Given the description of an element on the screen output the (x, y) to click on. 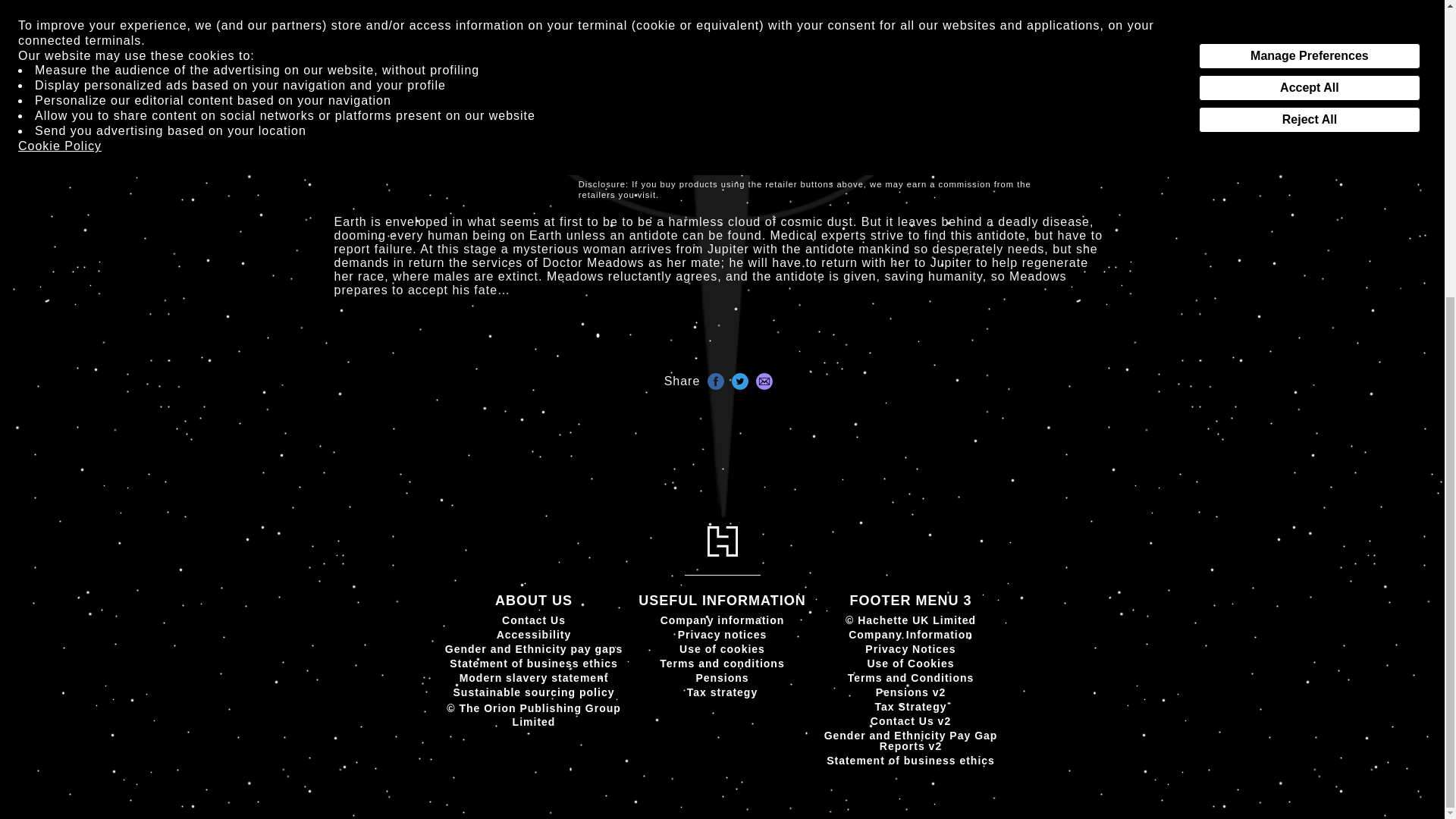
APPLE (757, 2)
KOBO (1002, 2)
GOOGLE (879, 2)
Accessibility (534, 634)
KINDLE (635, 2)
EBOOK (619, 129)
Contact Us (534, 620)
See All (608, 14)
